Given the description of an element on the screen output the (x, y) to click on. 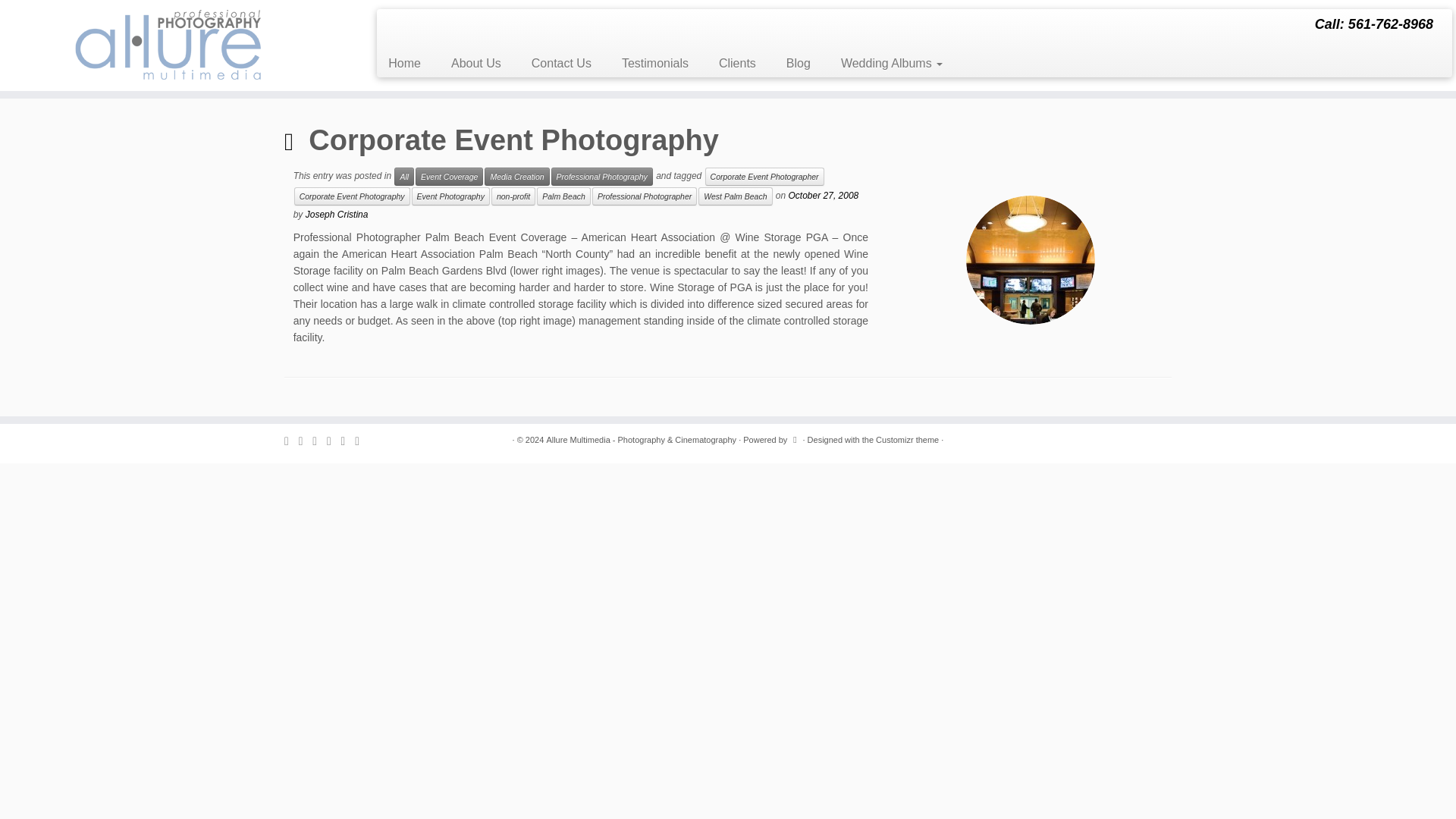
Event Photography (450, 196)
View all posts by Joseph Cristina (336, 214)
View all posts in Corporate Event Photography (352, 196)
Media Creation (516, 176)
Professional Photography (601, 176)
Blog (798, 62)
Palm Beach (564, 196)
All (403, 176)
View all posts in Palm Beach (564, 196)
Testimonials (655, 62)
View all posts in Corporate Event Photographer (764, 176)
Home (409, 62)
View all posts in All (403, 176)
Corporate Event Photographer (764, 176)
non-profit (513, 196)
